Given the description of an element on the screen output the (x, y) to click on. 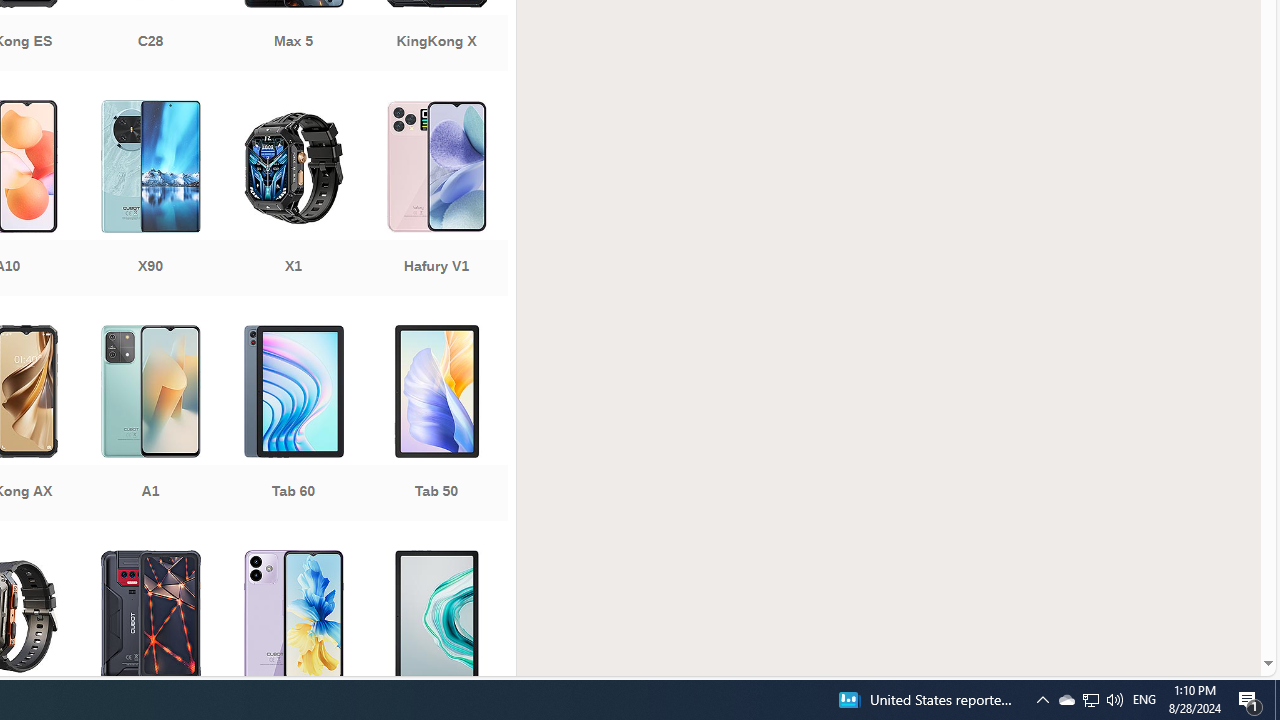
A1 (150, 425)
X1 (292, 200)
Hafury V1 (436, 200)
X90 (150, 200)
